Given the description of an element on the screen output the (x, y) to click on. 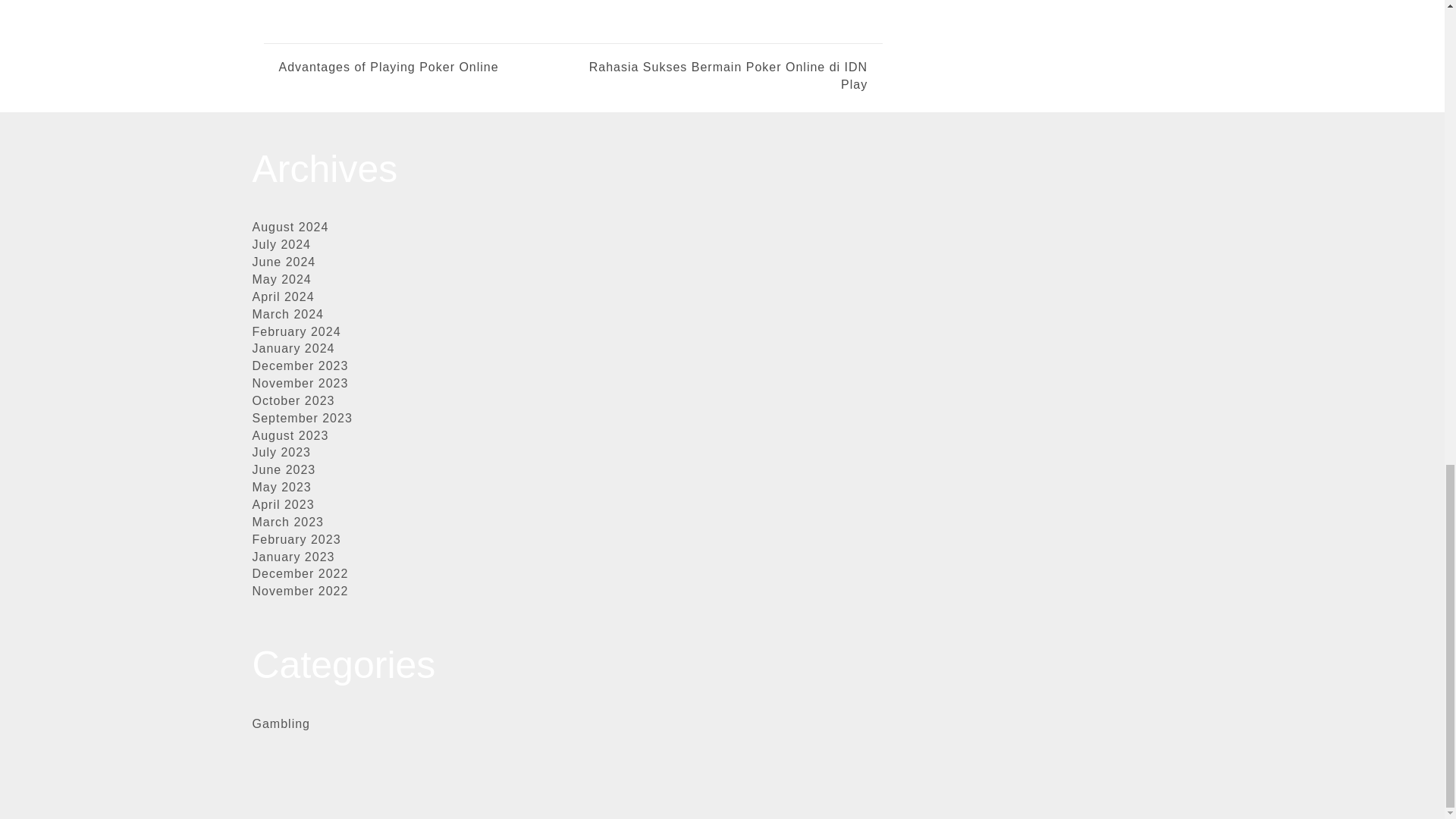
November 2023 (299, 382)
January 2023 (292, 556)
February 2024 (295, 331)
March 2024 (287, 314)
July 2024 (281, 244)
June 2024 (283, 261)
May 2023 (281, 486)
July 2023 (281, 451)
May 2024 (281, 278)
October 2023 (292, 400)
